Given the description of an element on the screen output the (x, y) to click on. 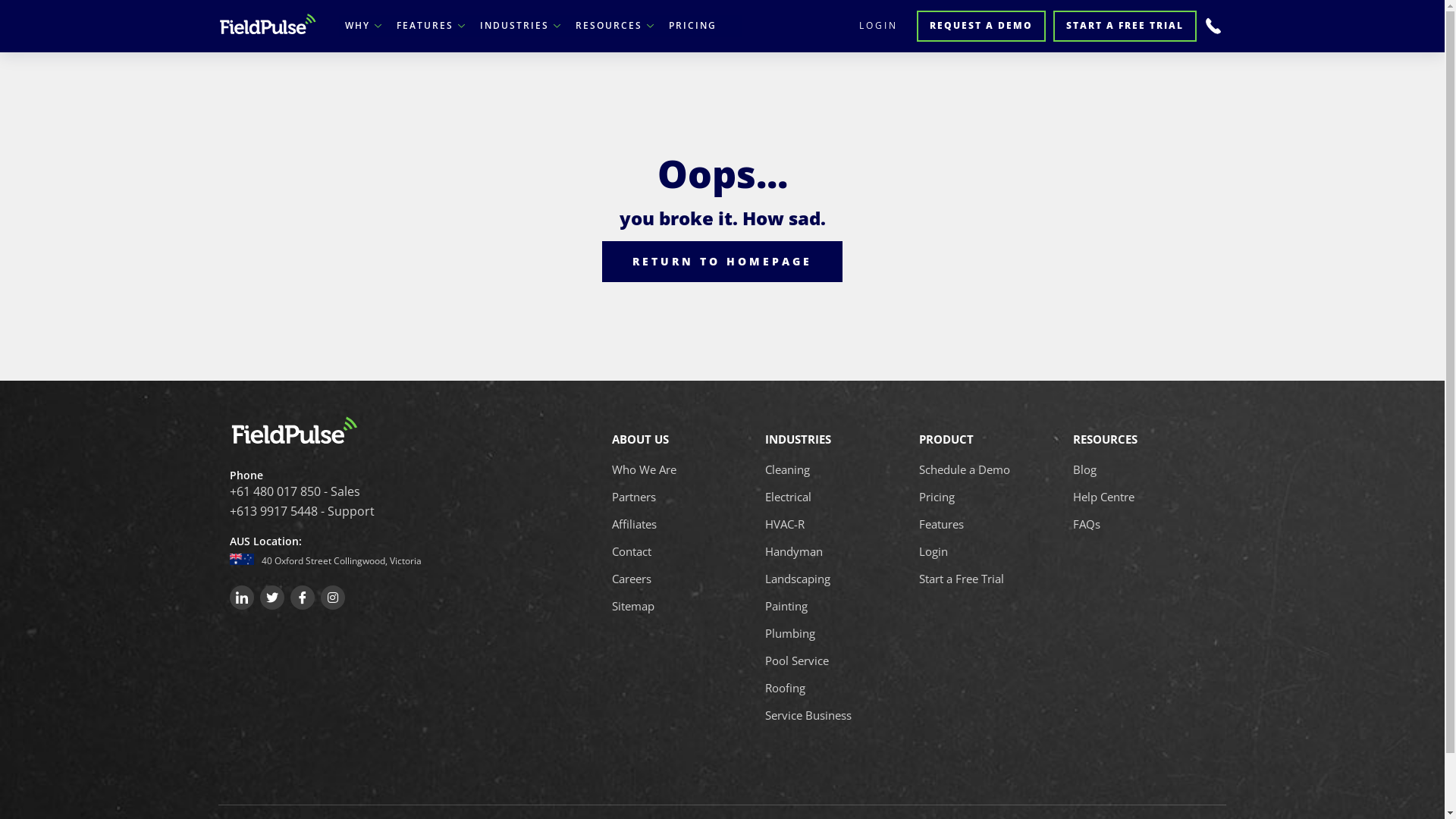
Affiliates Element type: text (633, 523)
Painting Element type: text (786, 605)
START A FREE TRIAL Element type: text (1124, 25)
Start a Free Trial Element type: text (961, 578)
FAQs Element type: text (1086, 523)
Blog Element type: text (1084, 469)
RETURN TO HOMEPAGE Element type: text (722, 261)
+61 480 017 850 - Sales Element type: text (374, 492)
HVAC-R Element type: text (784, 523)
WHY Element type: text (364, 26)
Schedule a Demo Element type: text (964, 469)
Who We Are Element type: text (643, 469)
+613 9917 5448 - Support Element type: text (374, 511)
main-logo.svg Element type: hover (267, 24)
Pricing Element type: text (936, 496)
FEATURES Element type: text (431, 26)
Careers Element type: text (631, 578)
Pool Service Element type: text (796, 660)
PRICING Element type: text (691, 26)
REQUEST A DEMO Element type: text (980, 25)
aug-flag.png Element type: hover (241, 558)
RESOURCES Element type: text (615, 26)
Sitemap Element type: text (632, 605)
Features Element type: text (941, 523)
Electrical Element type: text (788, 496)
Contact Element type: text (631, 550)
Roofing Element type: text (785, 687)
Partners Element type: text (633, 496)
Handyman Element type: text (793, 550)
Service Business Element type: text (808, 714)
Help Centre Element type: text (1103, 496)
Login Element type: text (933, 550)
Cleaning Element type: text (787, 469)
Landscaping Element type: text (797, 578)
Plumbing Element type: text (790, 632)
INDUSTRIES Element type: text (521, 26)
40 Oxford Street Collingwood, Victoria Element type: text (341, 560)
LOGIN Element type: text (877, 25)
